Given the description of an element on the screen output the (x, y) to click on. 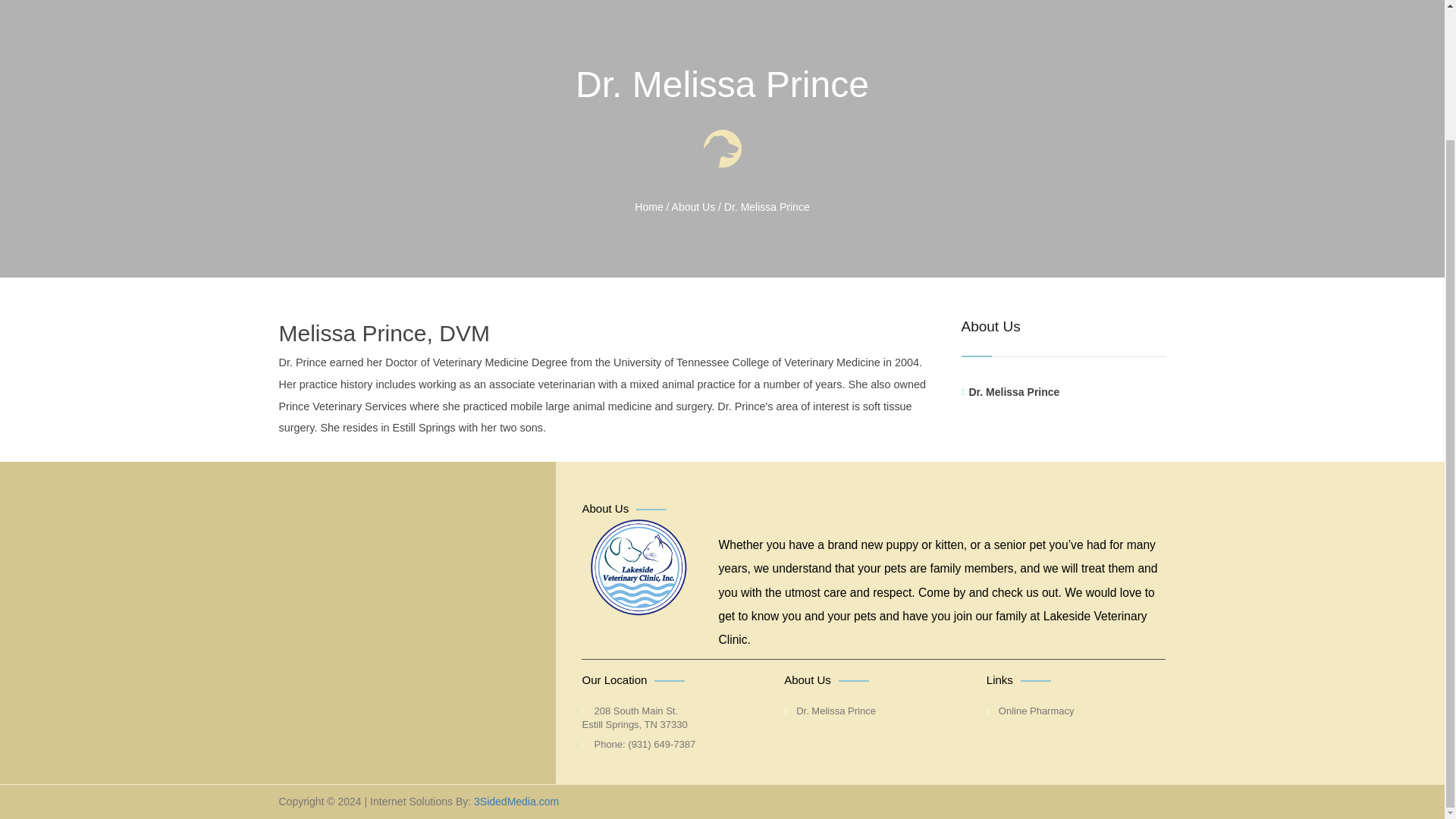
Online Pharmacy (1030, 710)
Home (633, 717)
3SidedMedia.com (648, 206)
Home (516, 801)
Dr. Melissa Prince (648, 206)
Dr. Melissa Prince (1067, 392)
About Us (766, 206)
Dr. Melissa Prince (693, 206)
